Given the description of an element on the screen output the (x, y) to click on. 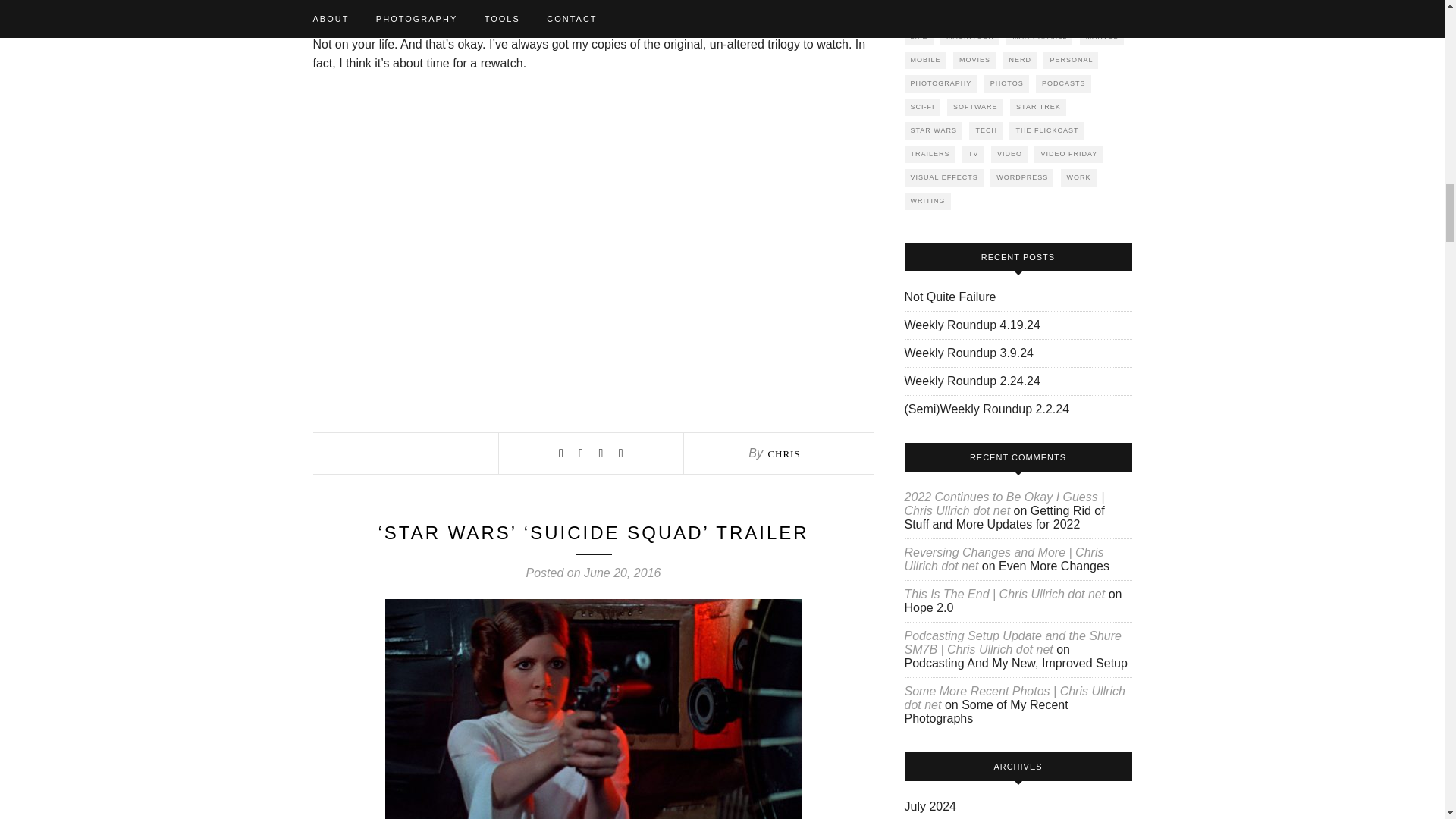
CHRIS (783, 453)
Posts by Chris (783, 453)
